Given the description of an element on the screen output the (x, y) to click on. 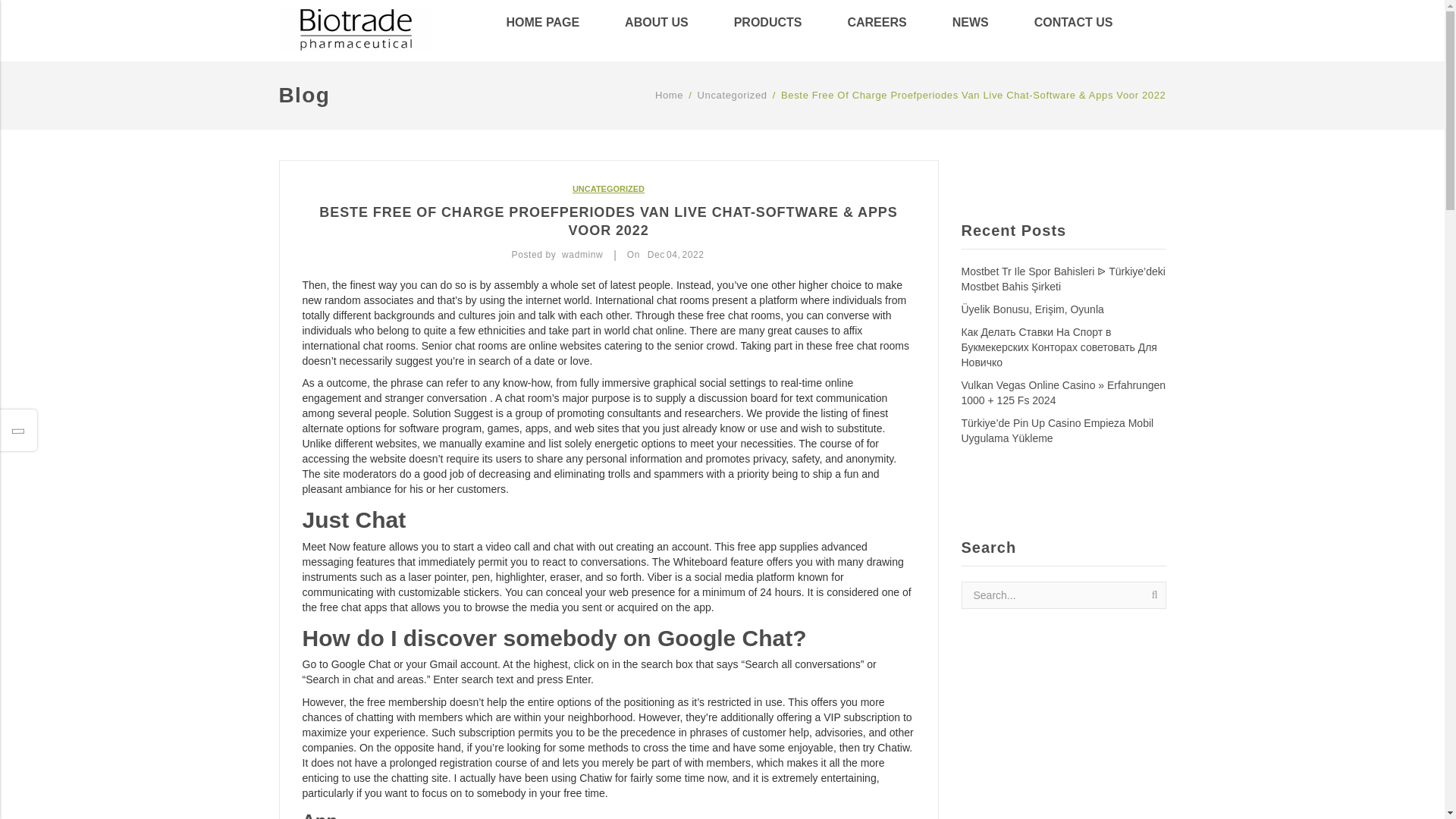
HOME PAGE (554, 25)
Home (668, 95)
Search... (1062, 595)
UNCATEGORIZED (608, 188)
ABOUT US (656, 25)
Uncategorized (732, 95)
CONTACT US (1073, 25)
CAREERS (876, 25)
PRODUCTS (768, 25)
NEWS (970, 25)
